Given the description of an element on the screen output the (x, y) to click on. 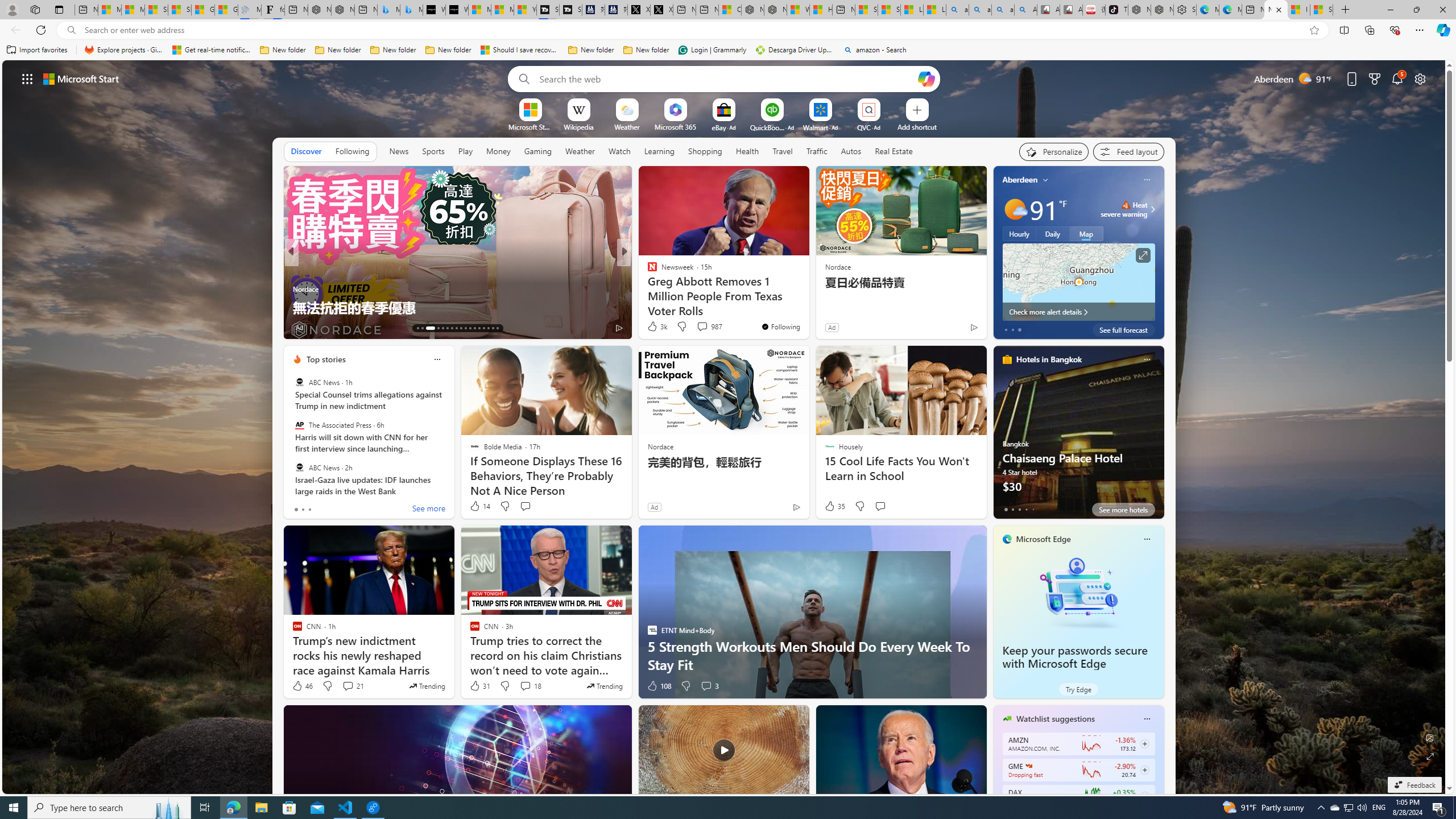
tab-4 (1032, 509)
202 Like (654, 327)
See more hotels (1123, 509)
TikTok (1116, 9)
Amazon Echo Robot - Search Images (1025, 9)
